Given the description of an element on the screen output the (x, y) to click on. 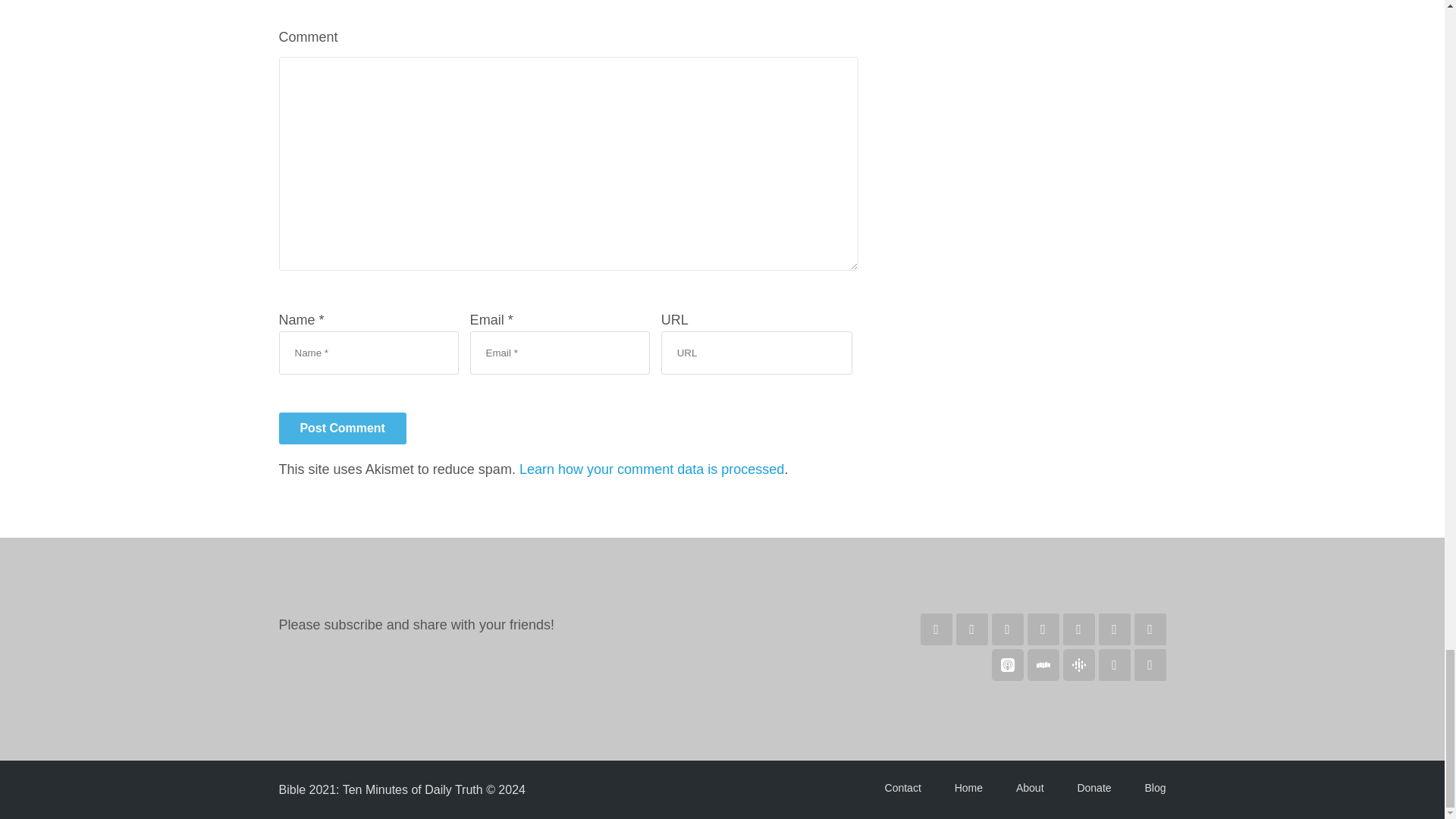
Post Comment (342, 428)
